Given the description of an element on the screen output the (x, y) to click on. 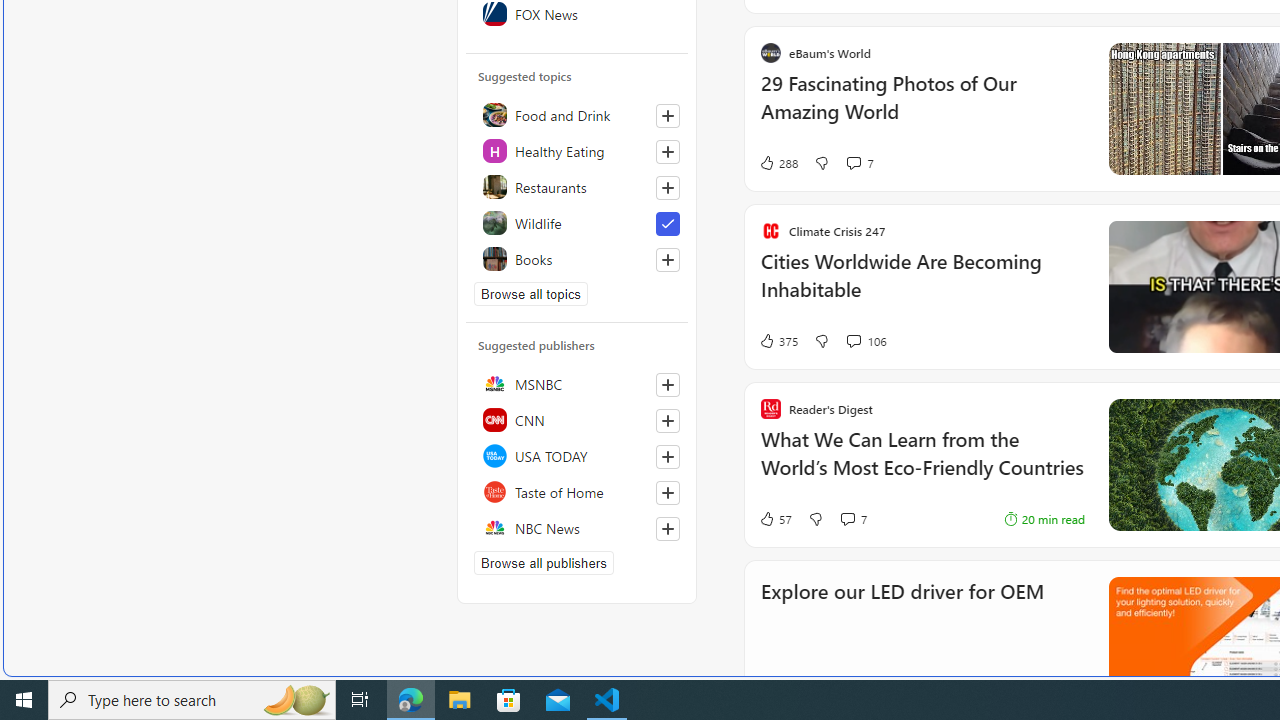
375 Like (778, 340)
